Given the description of an element on the screen output the (x, y) to click on. 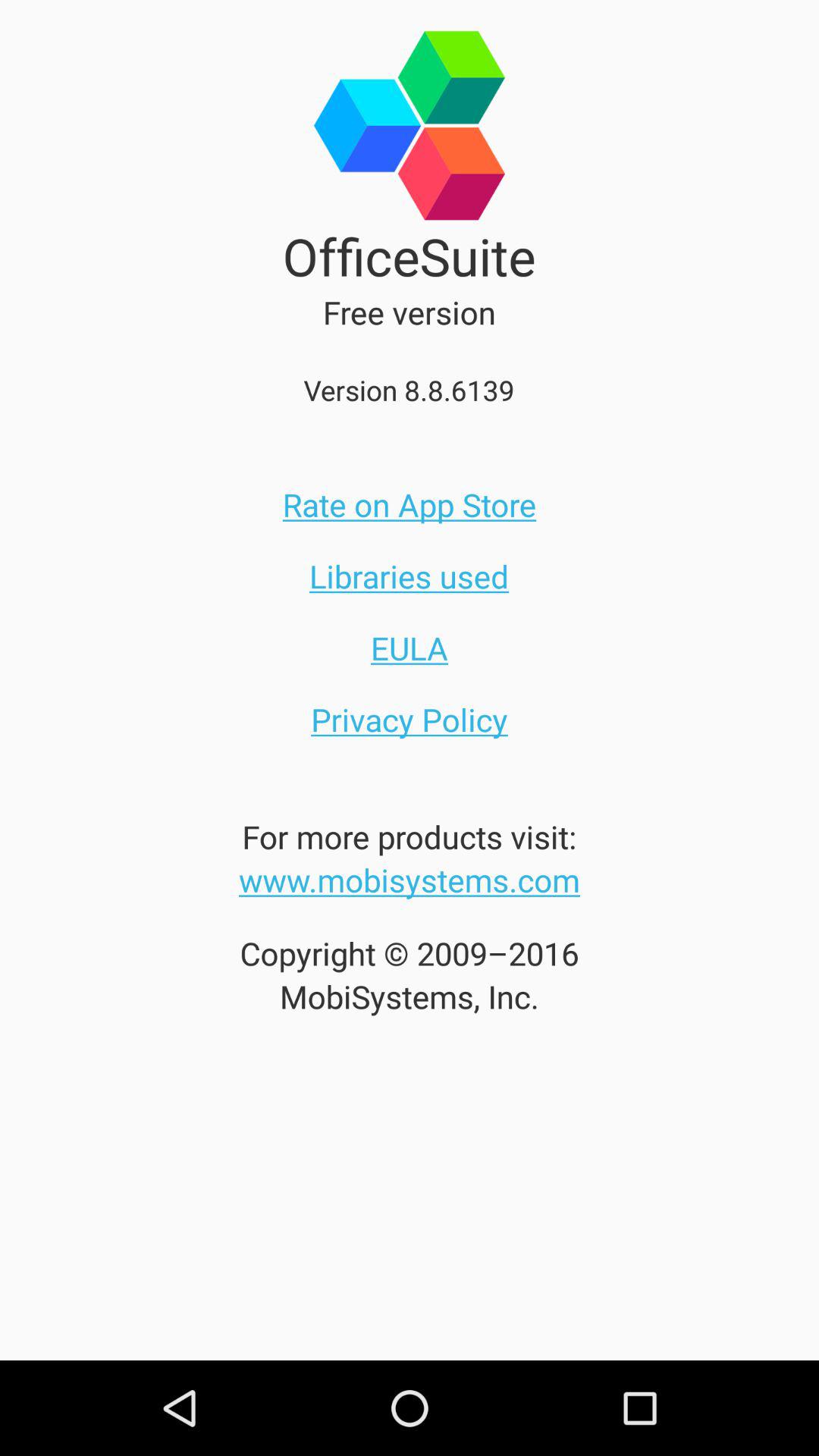
open the item above libraries used (409, 504)
